Given the description of an element on the screen output the (x, y) to click on. 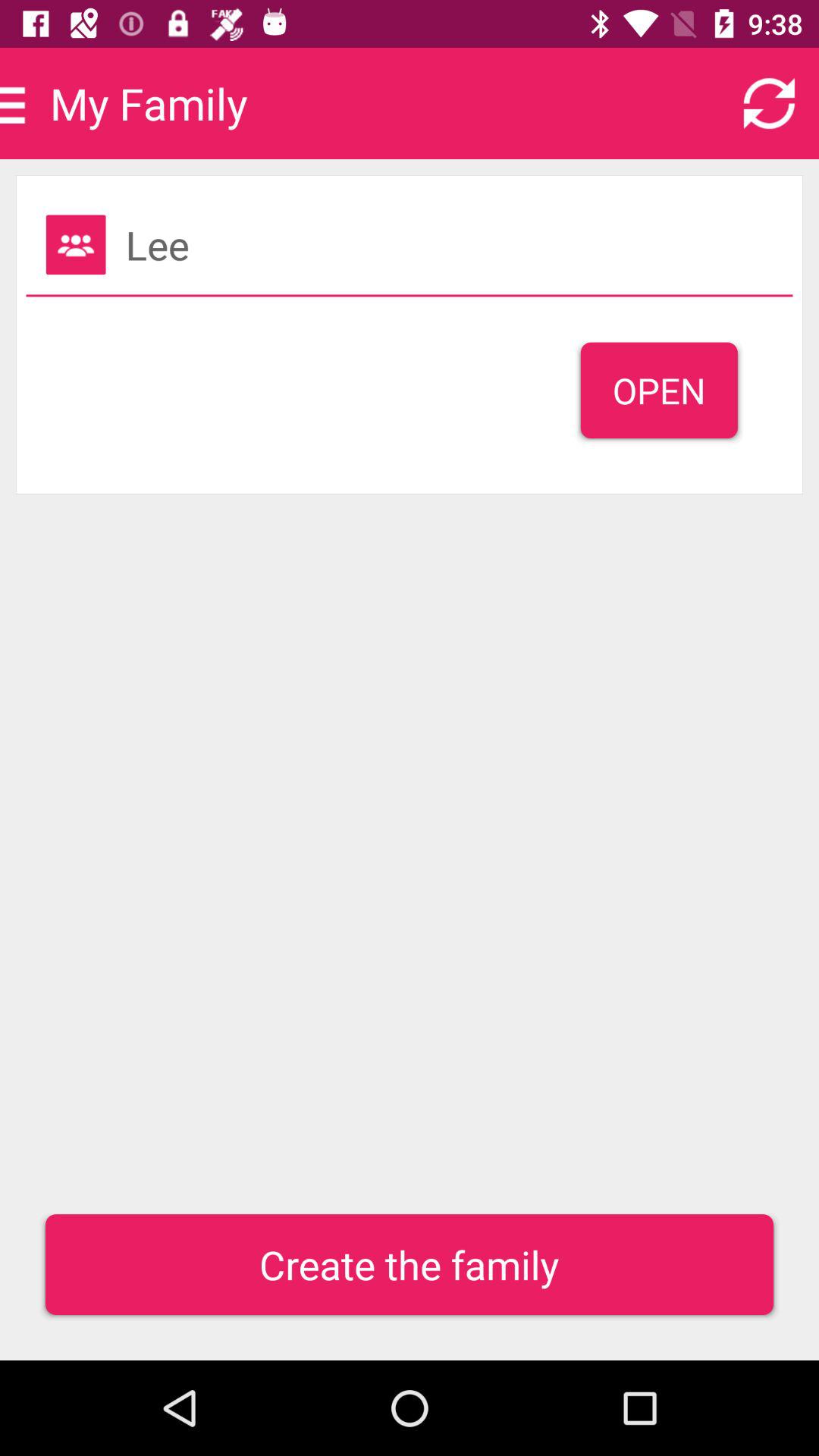
reload (769, 103)
